Given the description of an element on the screen output the (x, y) to click on. 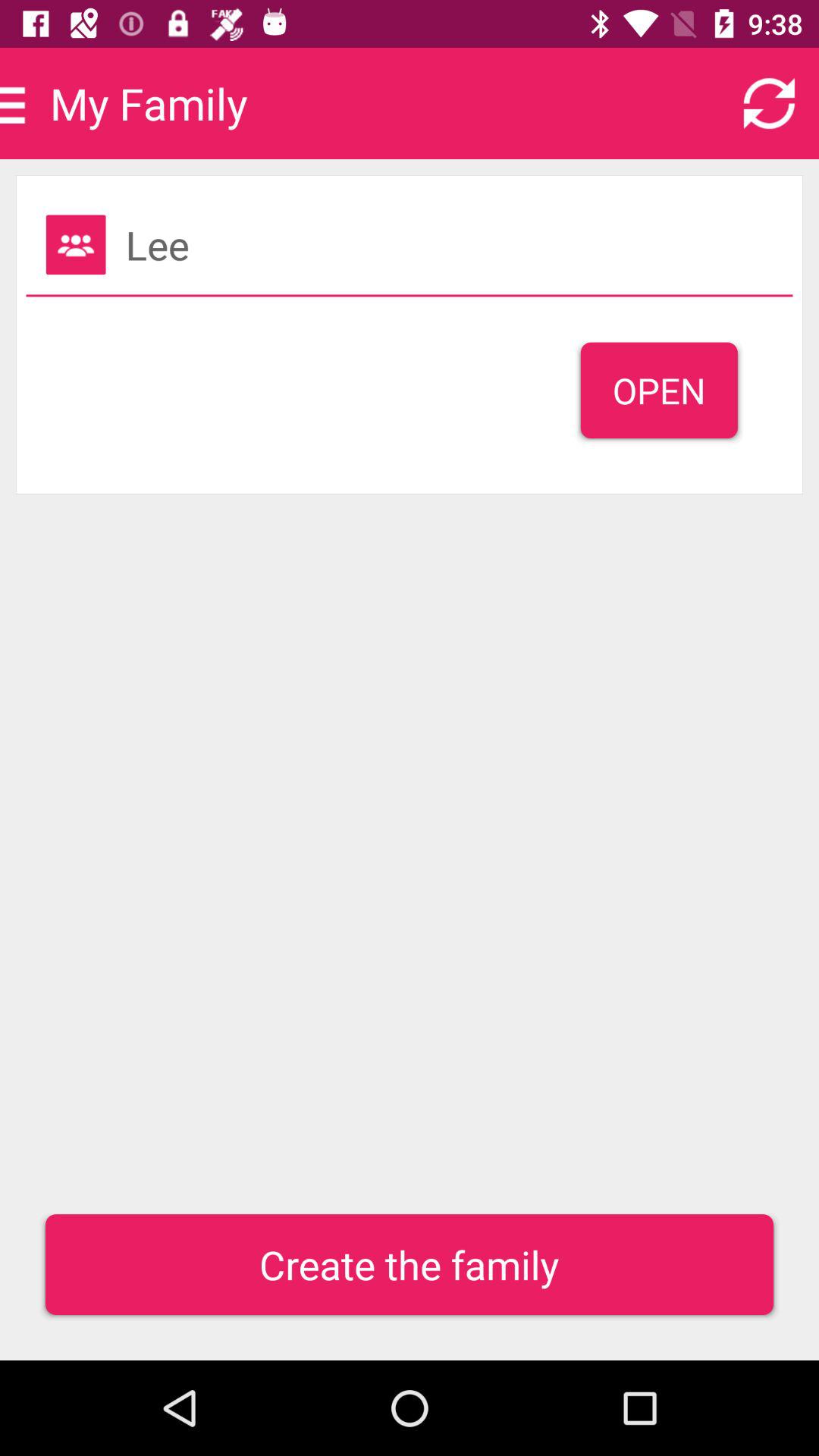
reload (769, 103)
